Given the description of an element on the screen output the (x, y) to click on. 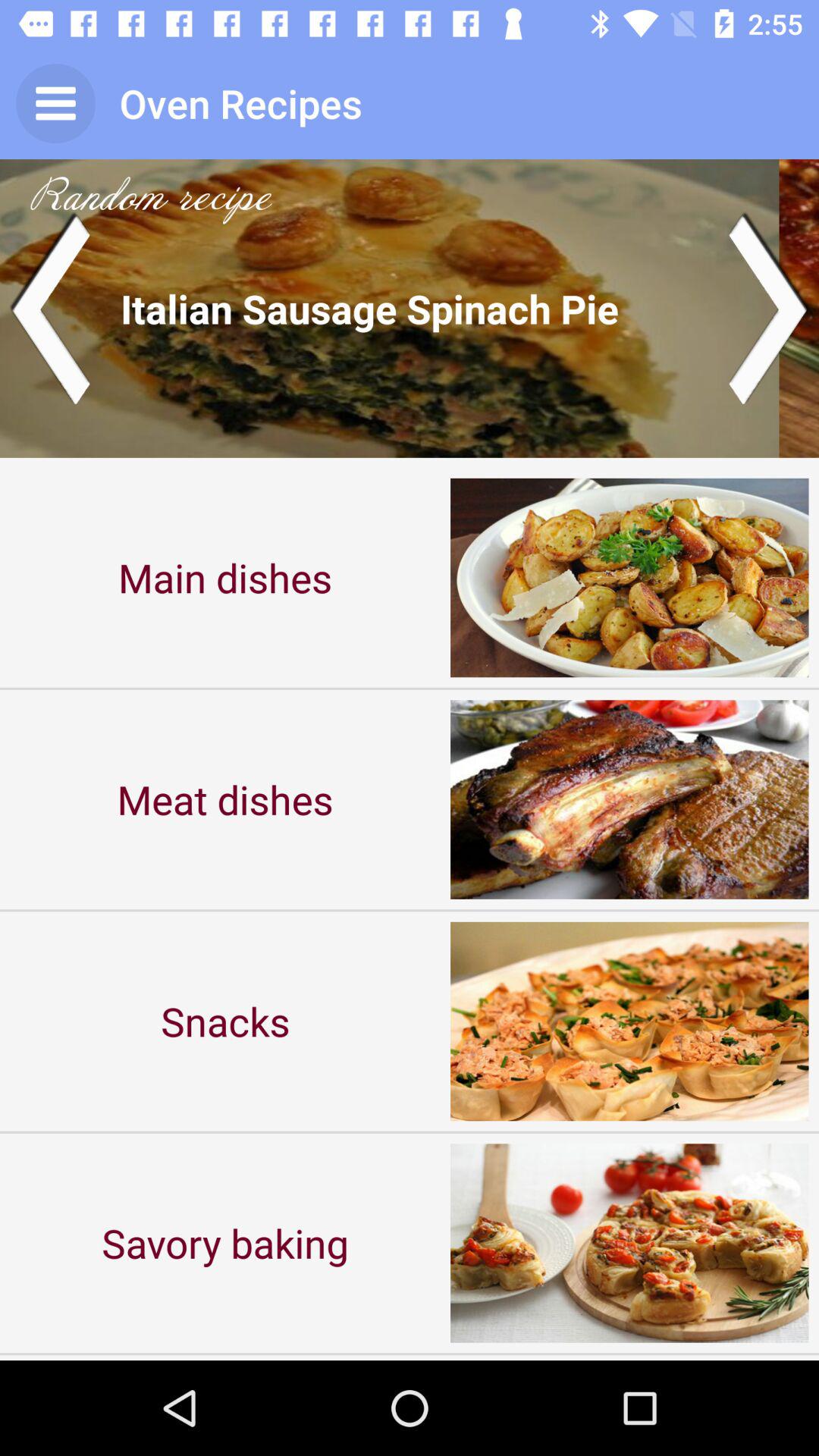
turn off icon below the meat dishes item (225, 1020)
